Given the description of an element on the screen output the (x, y) to click on. 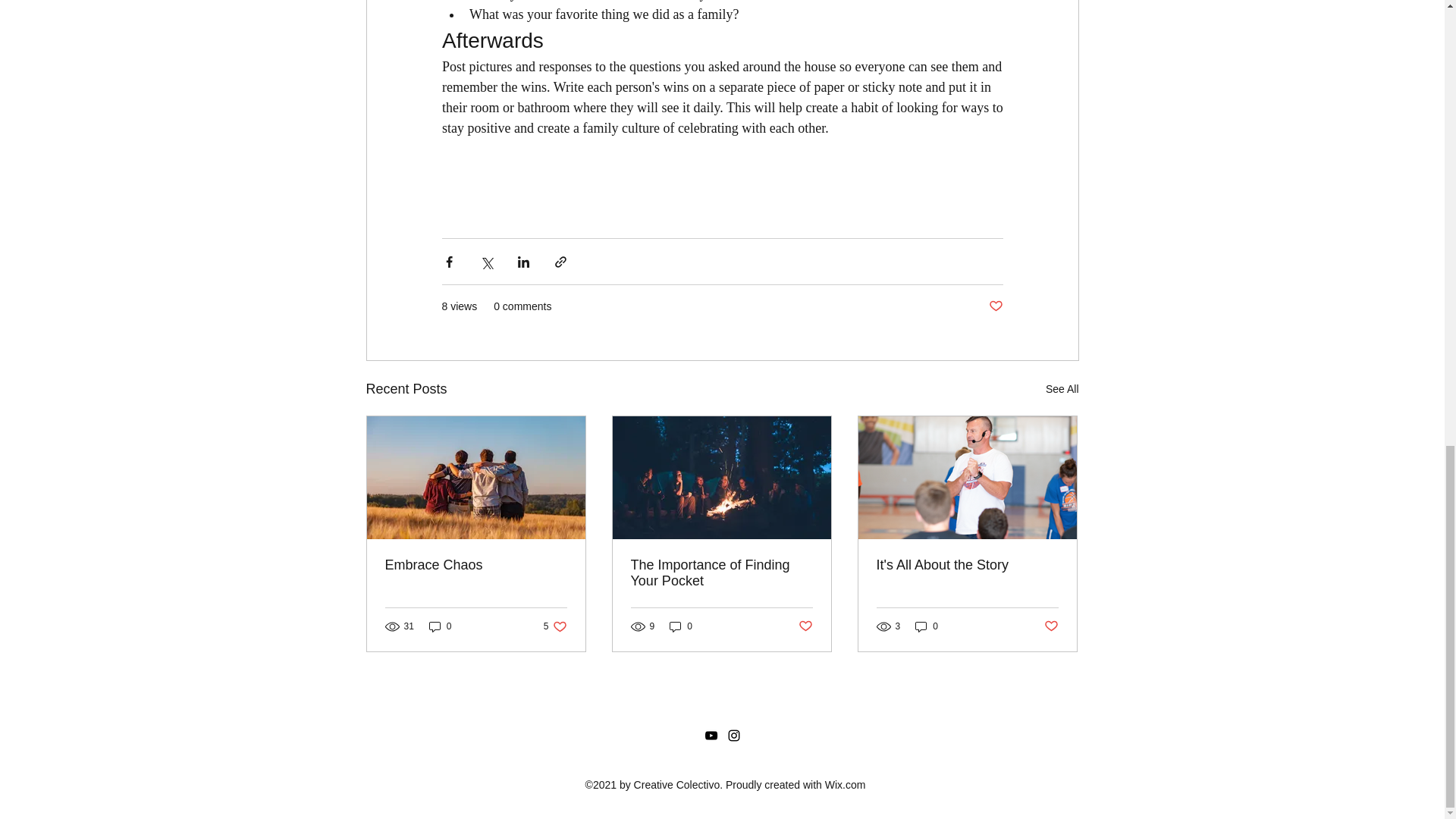
0 (681, 626)
0 (440, 626)
0 (926, 626)
Embrace Chaos (476, 565)
Post not marked as liked (995, 306)
Post not marked as liked (1050, 625)
See All (1061, 389)
Post not marked as liked (804, 625)
It's All About the Story (967, 565)
